Given the description of an element on the screen output the (x, y) to click on. 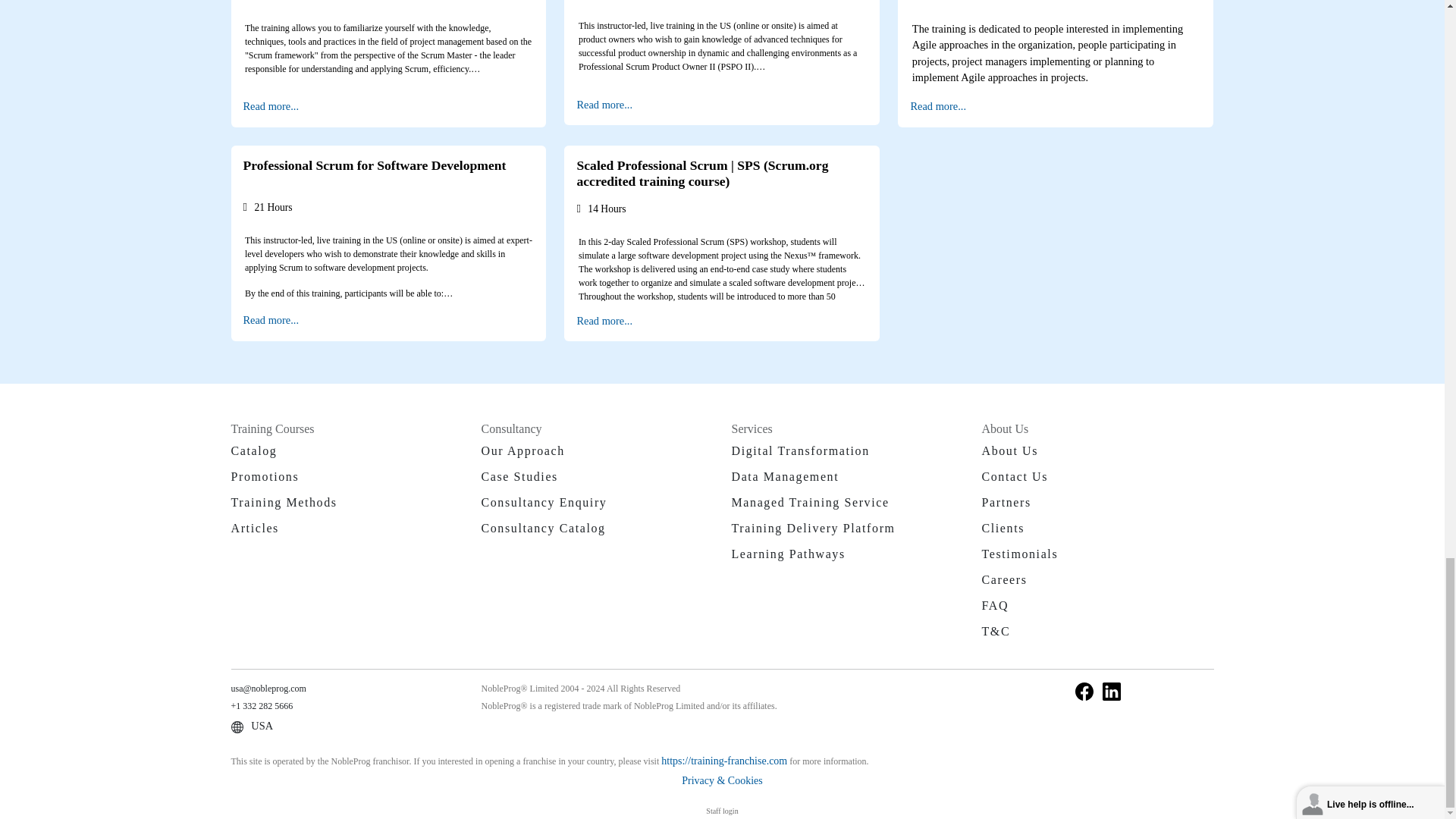
Follow NobleProg on Facebook (1084, 689)
change website country or language (251, 726)
Follow NobleProg on LinkedIn (1111, 689)
